Given the description of an element on the screen output the (x, y) to click on. 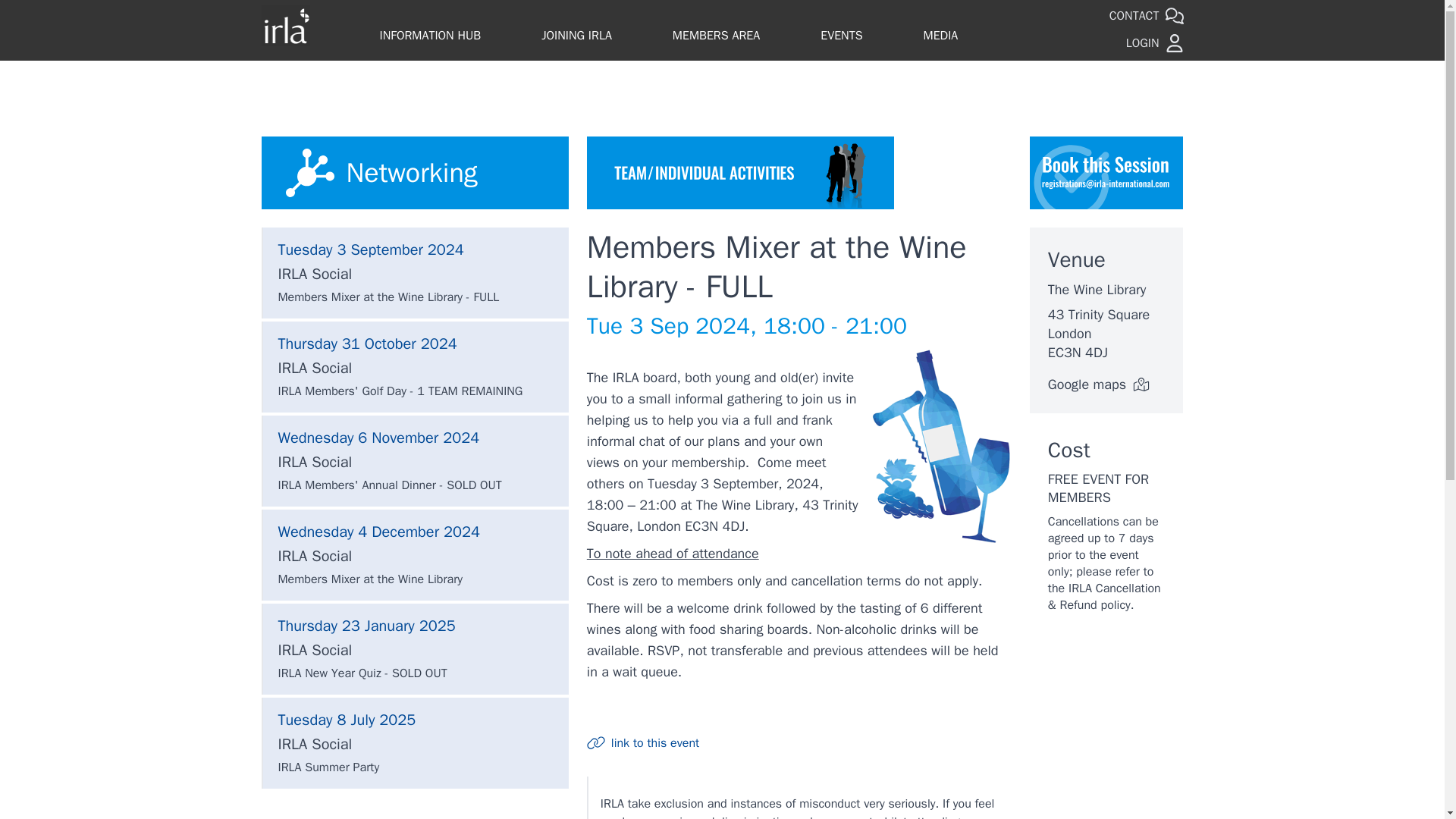
MEMBERS AREA (716, 36)
LOGIN (1154, 43)
JOINING IRLA (576, 36)
MEDIA (940, 36)
EVENTS (841, 36)
INFORMATION HUB (429, 36)
CONTACT (1146, 16)
